Given the description of an element on the screen output the (x, y) to click on. 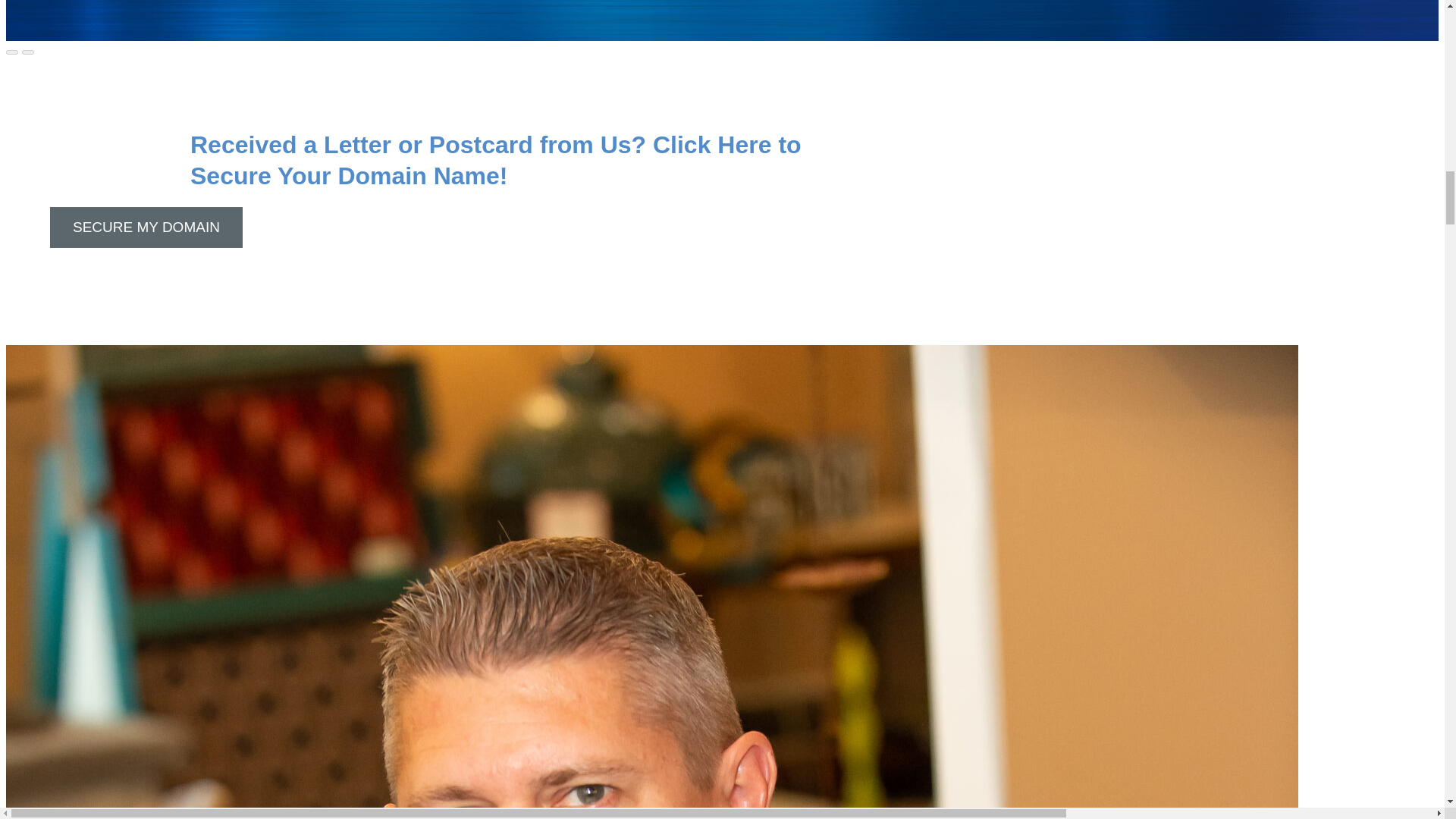
SECURE MY DOMAIN (146, 227)
